Given the description of an element on the screen output the (x, y) to click on. 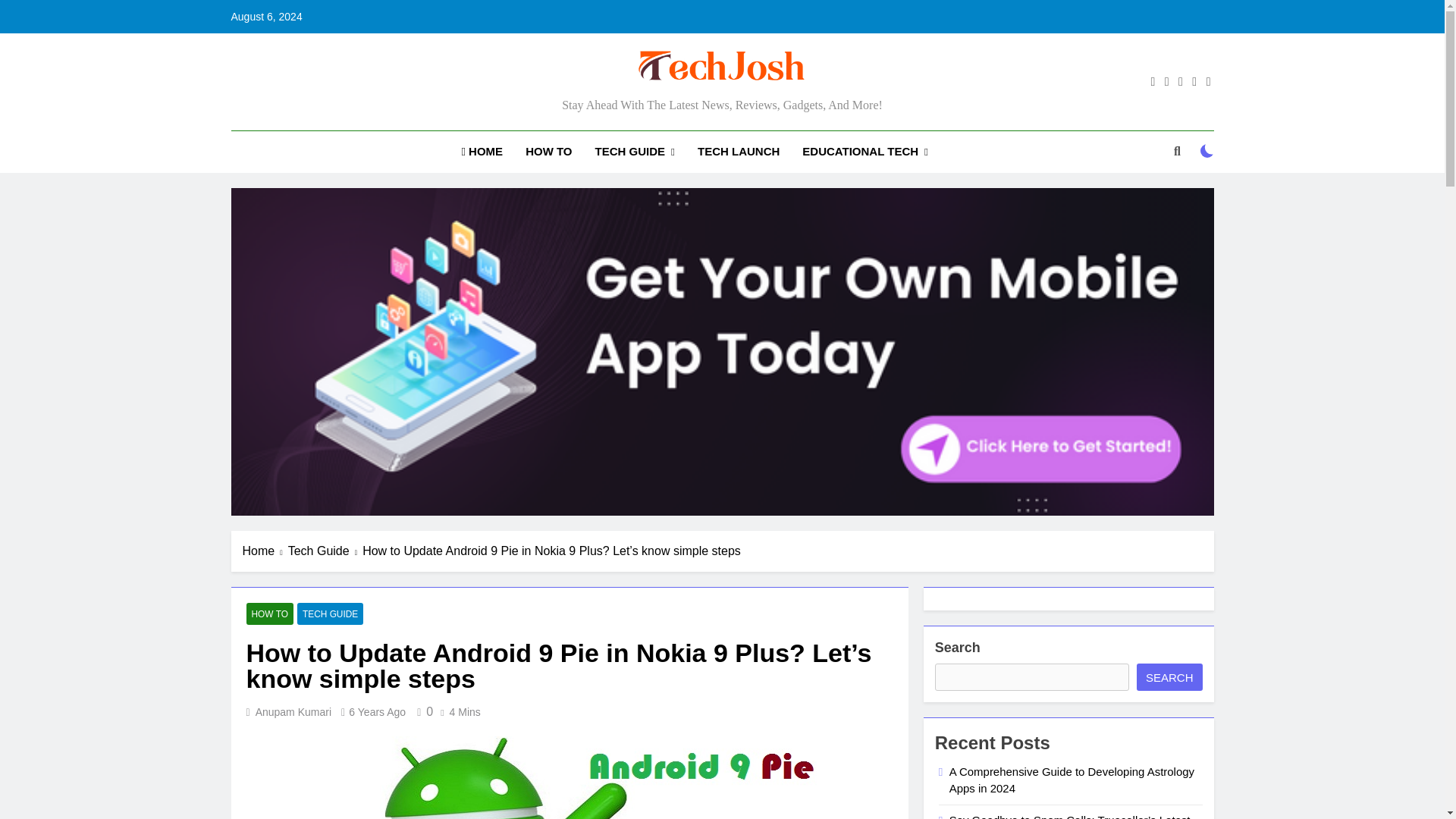
TECH GUIDE (634, 151)
Home (265, 551)
TechJosh (547, 105)
on (1206, 151)
TECH LAUNCH (737, 151)
EDUCATIONAL TECH (864, 151)
Tech Guide (325, 551)
HOW TO (548, 151)
HOME (481, 151)
